Given the description of an element on the screen output the (x, y) to click on. 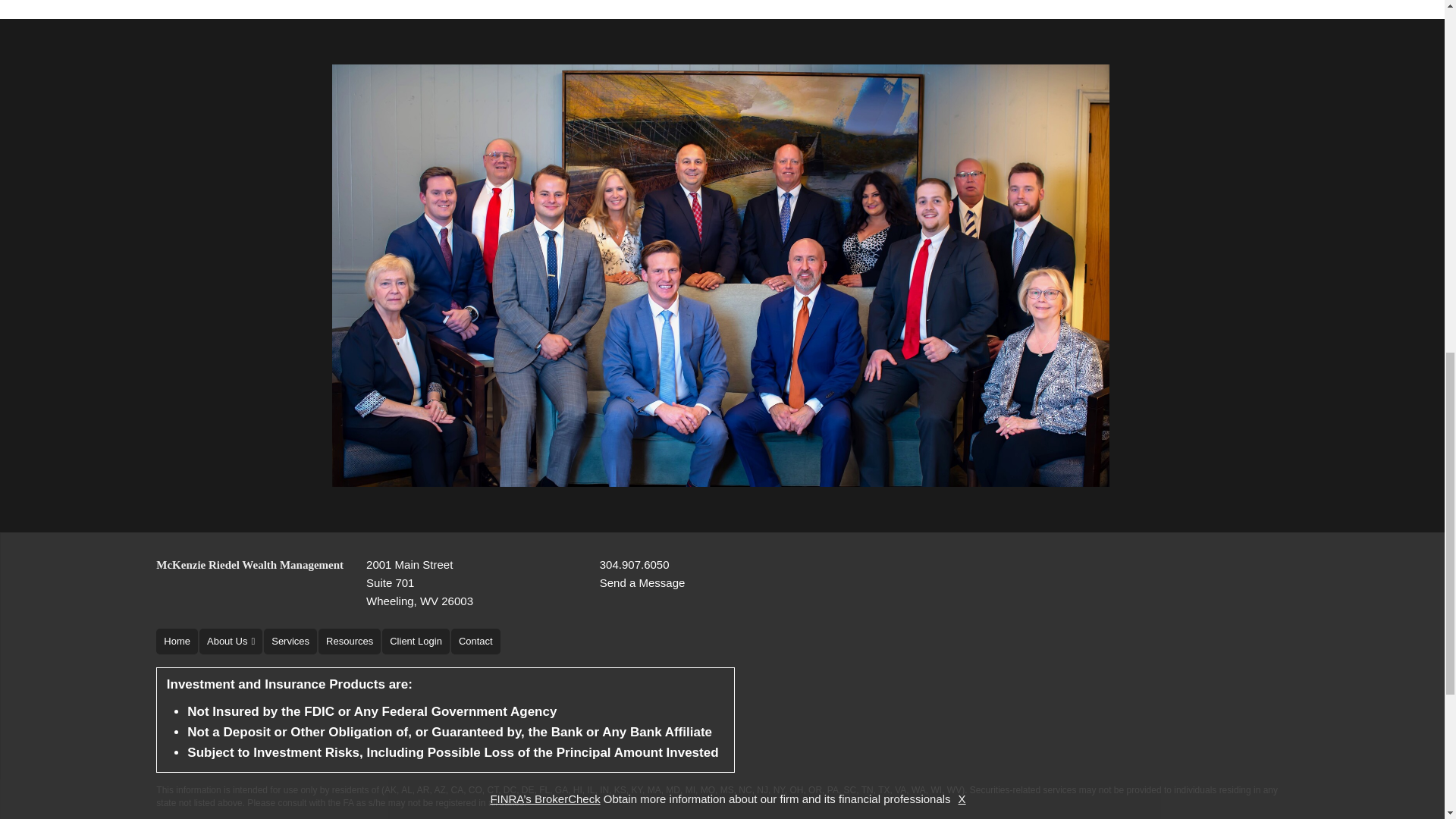
Resources (349, 641)
McKenzie Riedel Wealth Management (249, 565)
About Us (419, 583)
304.907.6050 (230, 641)
Send a Message (634, 565)
Contact (642, 583)
Client Login (475, 641)
Services (415, 641)
Home (290, 641)
